Given the description of an element on the screen output the (x, y) to click on. 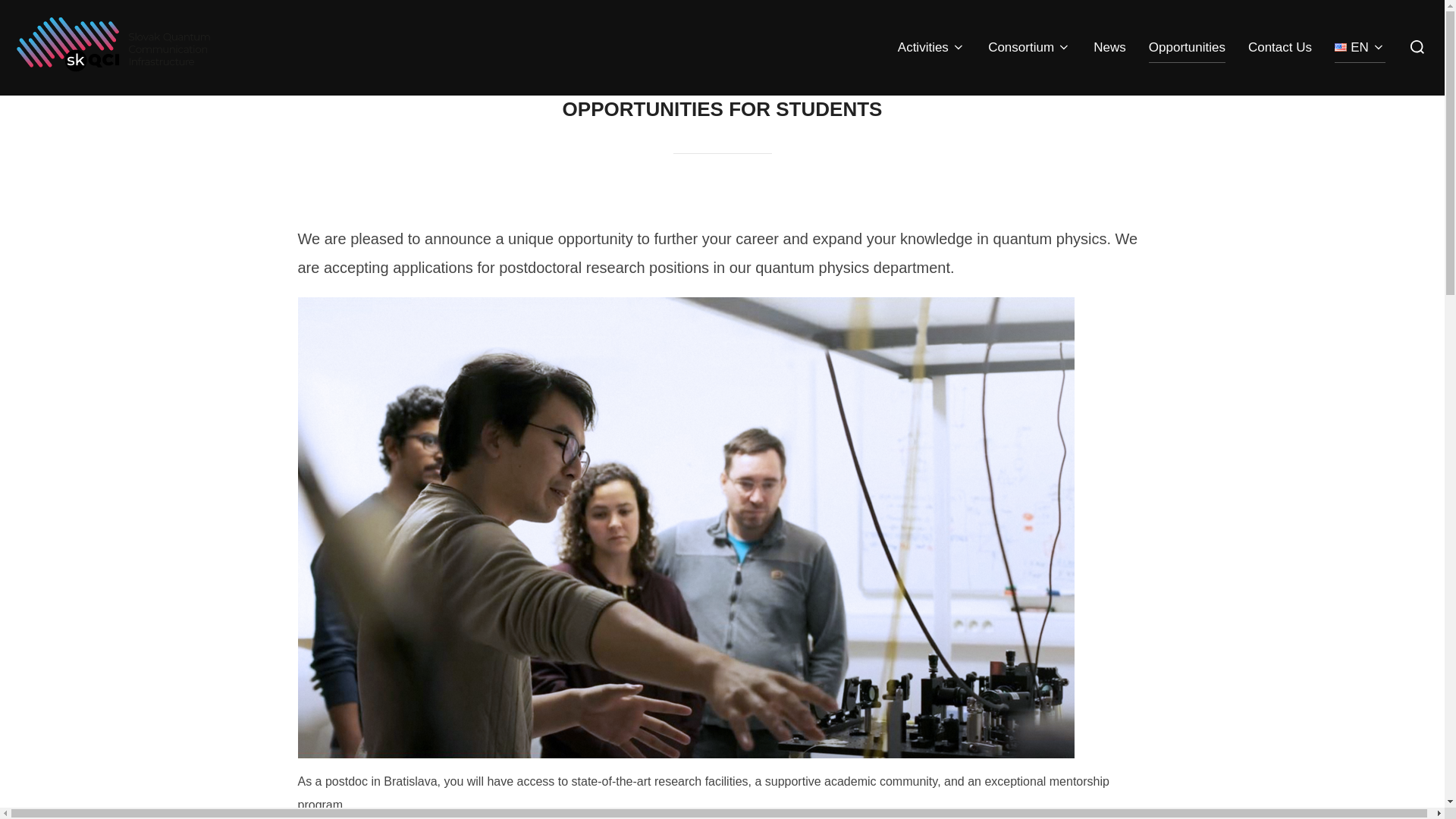
Consortium (1029, 47)
Contact Us (1279, 47)
Activities (931, 47)
EN (1360, 47)
News (1109, 47)
Opportunities (1186, 47)
